Given the description of an element on the screen output the (x, y) to click on. 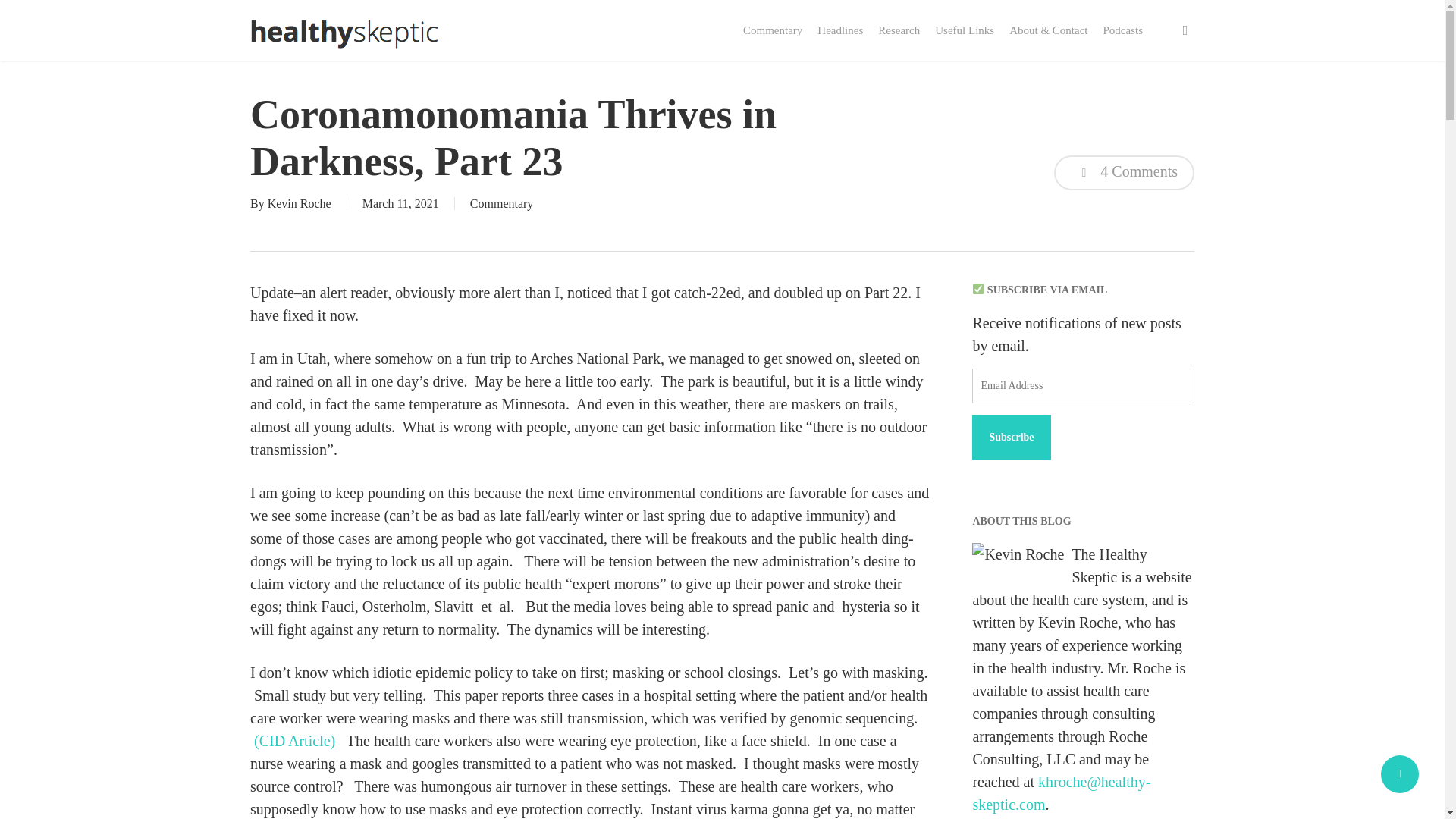
Research (898, 30)
search (1184, 29)
Commentary (772, 30)
Commentary (502, 203)
Kevin Roche (299, 203)
Podcasts (1122, 30)
4 Comments (1123, 172)
Headlines (839, 30)
Posts by Kevin Roche (299, 203)
Subscribe (1010, 437)
Useful Links (964, 30)
